Given the description of an element on the screen output the (x, y) to click on. 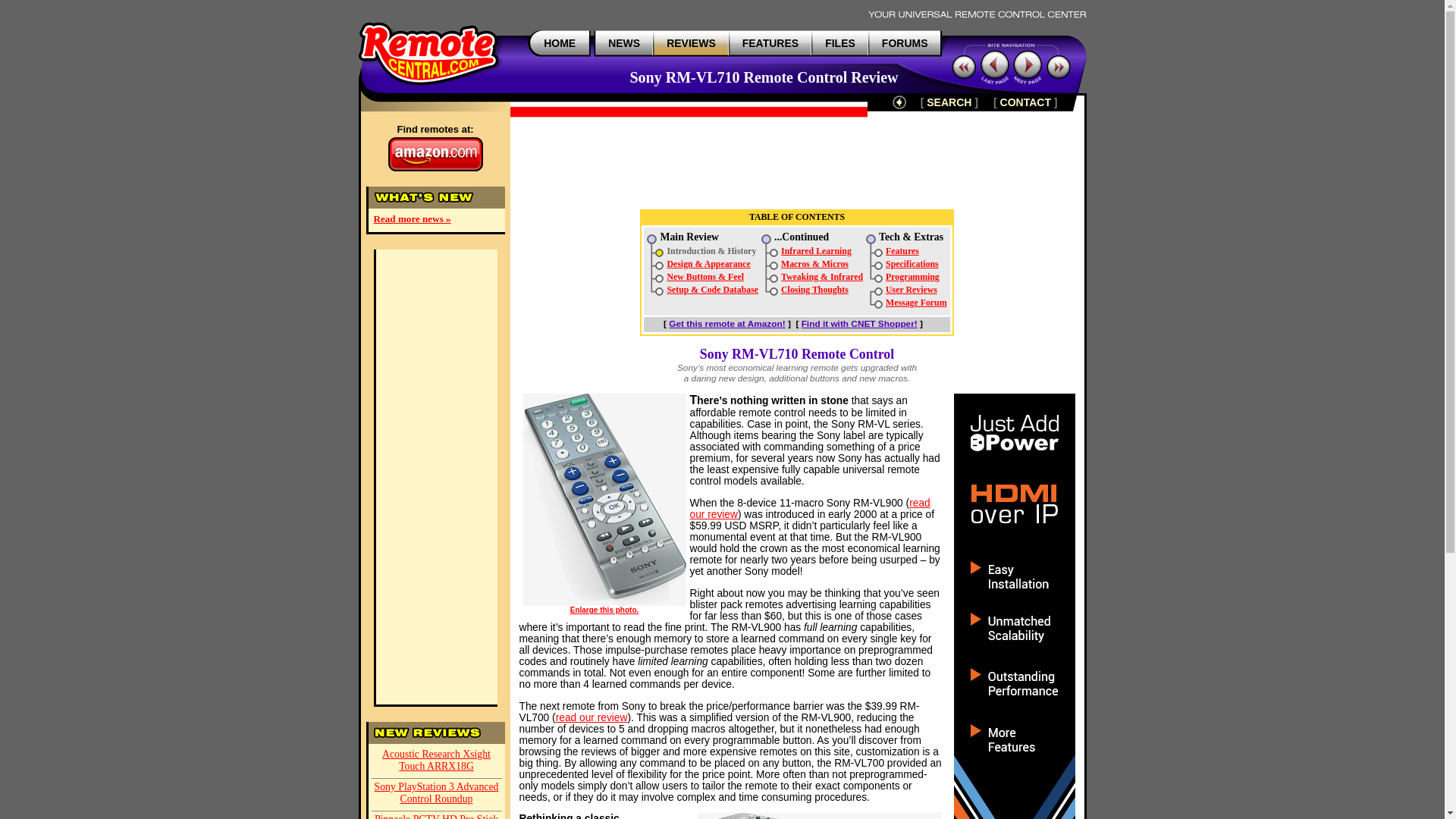
Get in touch (1025, 102)
read our review (810, 508)
The remote control community (905, 42)
Programming (912, 276)
SEARCH (948, 102)
read our review (591, 716)
Main site index (559, 42)
Message Forum (915, 302)
Find remotes at: (434, 147)
Find out what's new (624, 42)
Features (901, 250)
Closing Thoughts (814, 289)
Exclusive in-depth reviews (691, 42)
REVIEWS (691, 42)
Special reports and sections (769, 42)
